Given the description of an element on the screen output the (x, y) to click on. 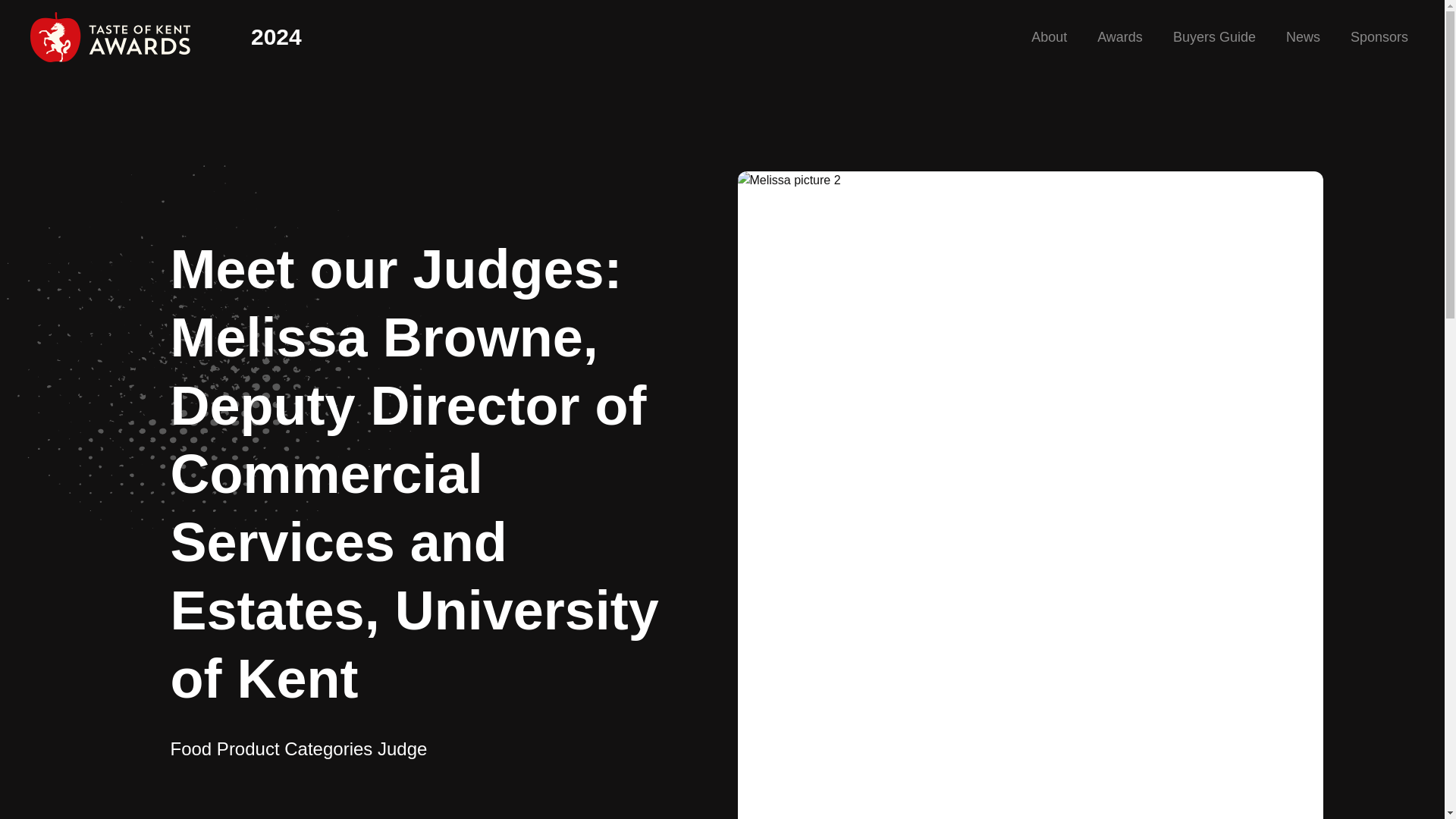
About (1048, 37)
News (1302, 37)
Awards (1119, 37)
Buyers Guide (1214, 37)
Sponsors (1379, 37)
